Given the description of an element on the screen output the (x, y) to click on. 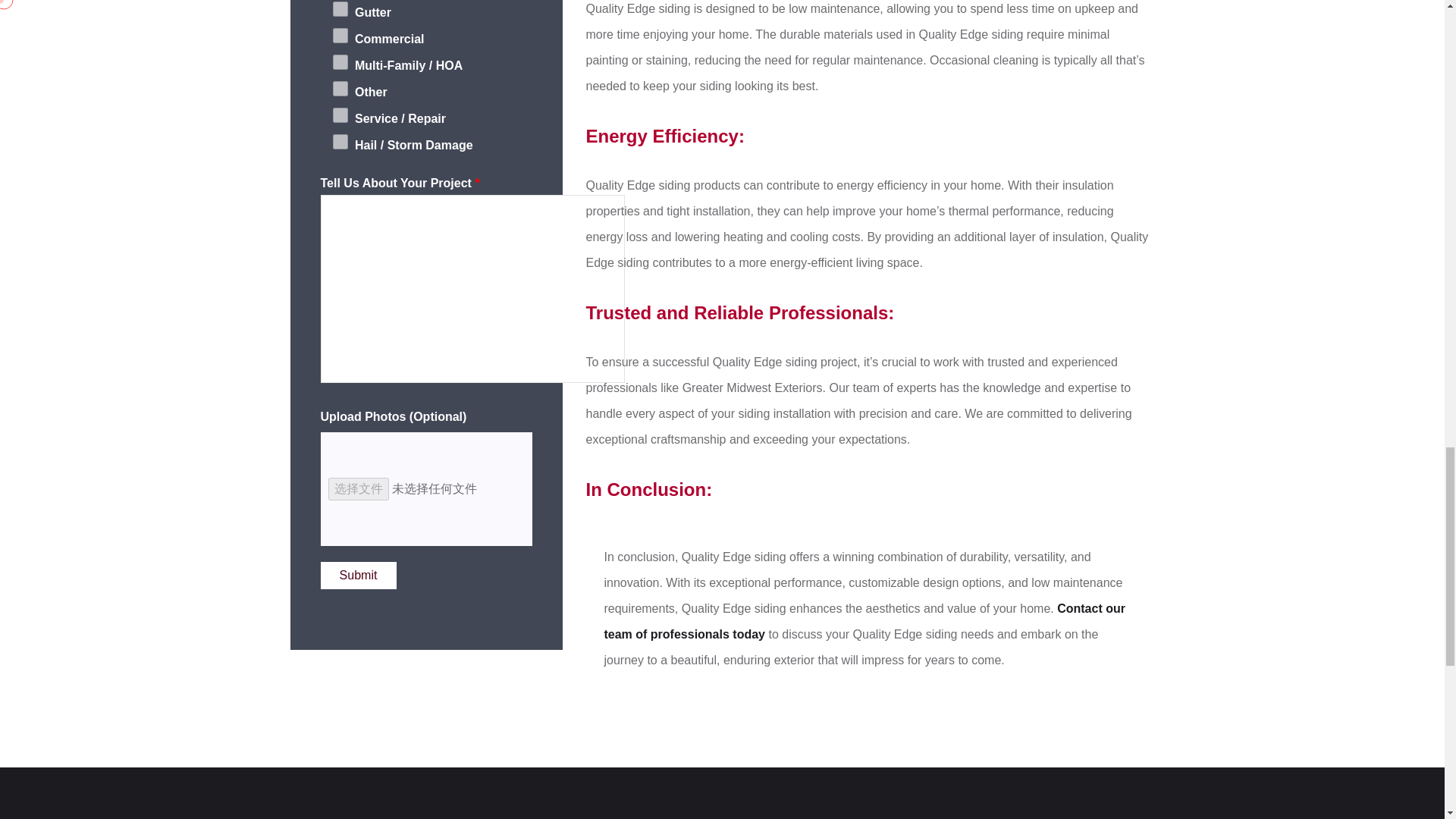
Other (339, 88)
Commercial (339, 35)
Gutter (339, 8)
Submit (358, 574)
